Given the description of an element on the screen output the (x, y) to click on. 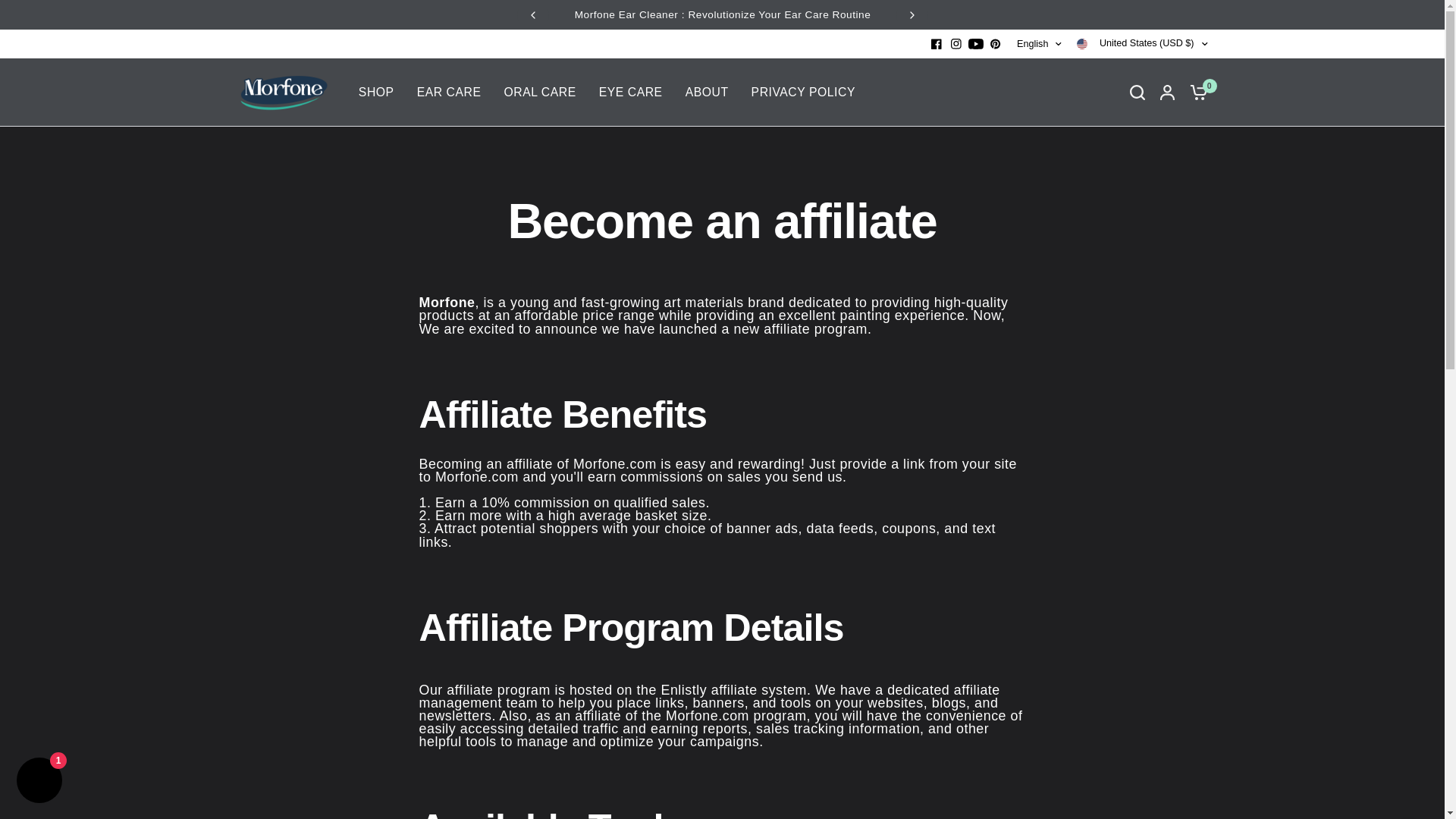
Instagram (956, 44)
YouTube (975, 44)
Pinterest (995, 44)
English (1038, 44)
Facebook (936, 44)
